Given the description of an element on the screen output the (x, y) to click on. 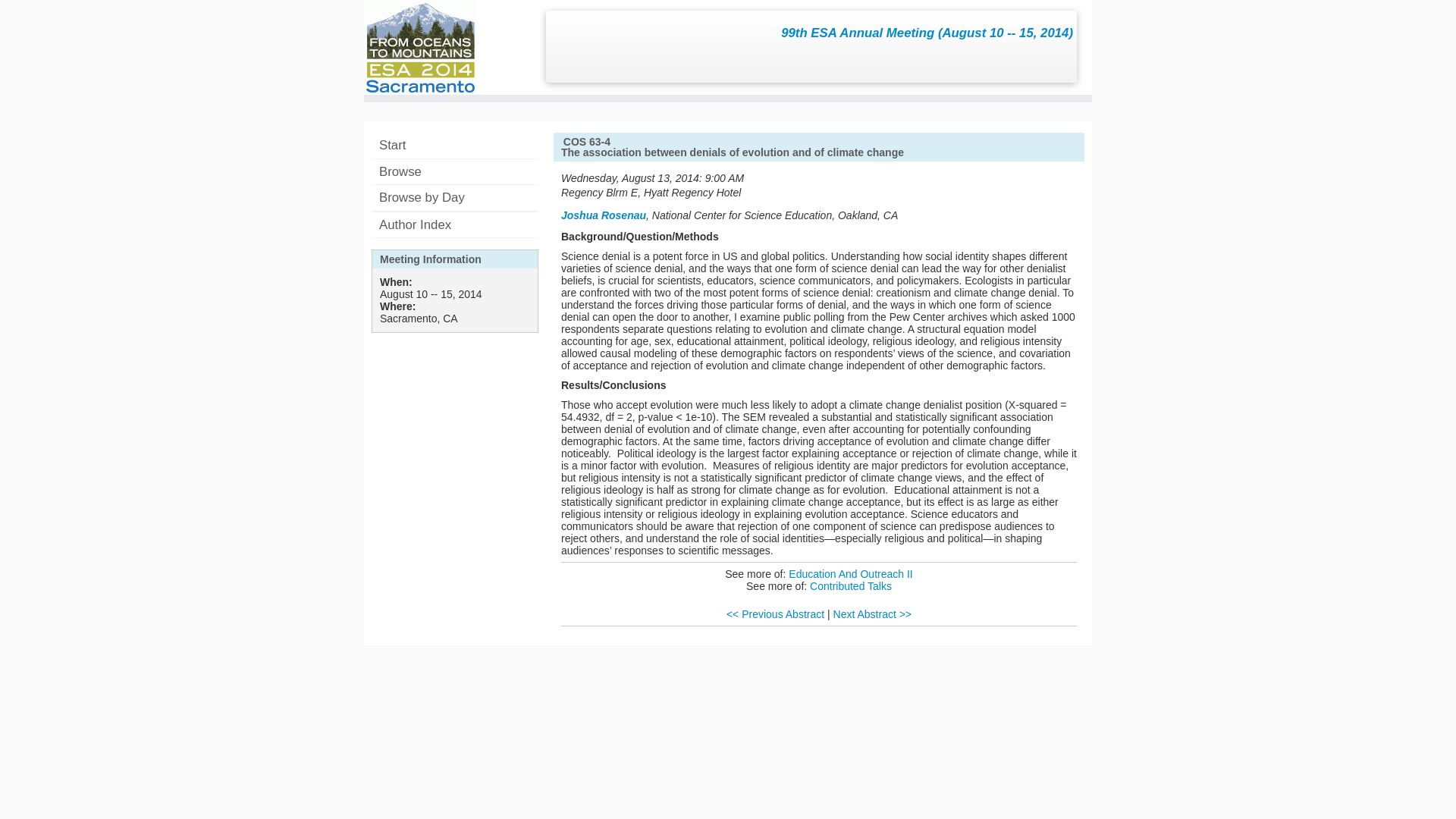
Start (454, 145)
Browse (454, 171)
Joshua Rosenau (603, 215)
Contributed Talks (850, 585)
Author Index (454, 225)
Browse by Day (454, 197)
Education And Outreach II (850, 573)
